Given the description of an element on the screen output the (x, y) to click on. 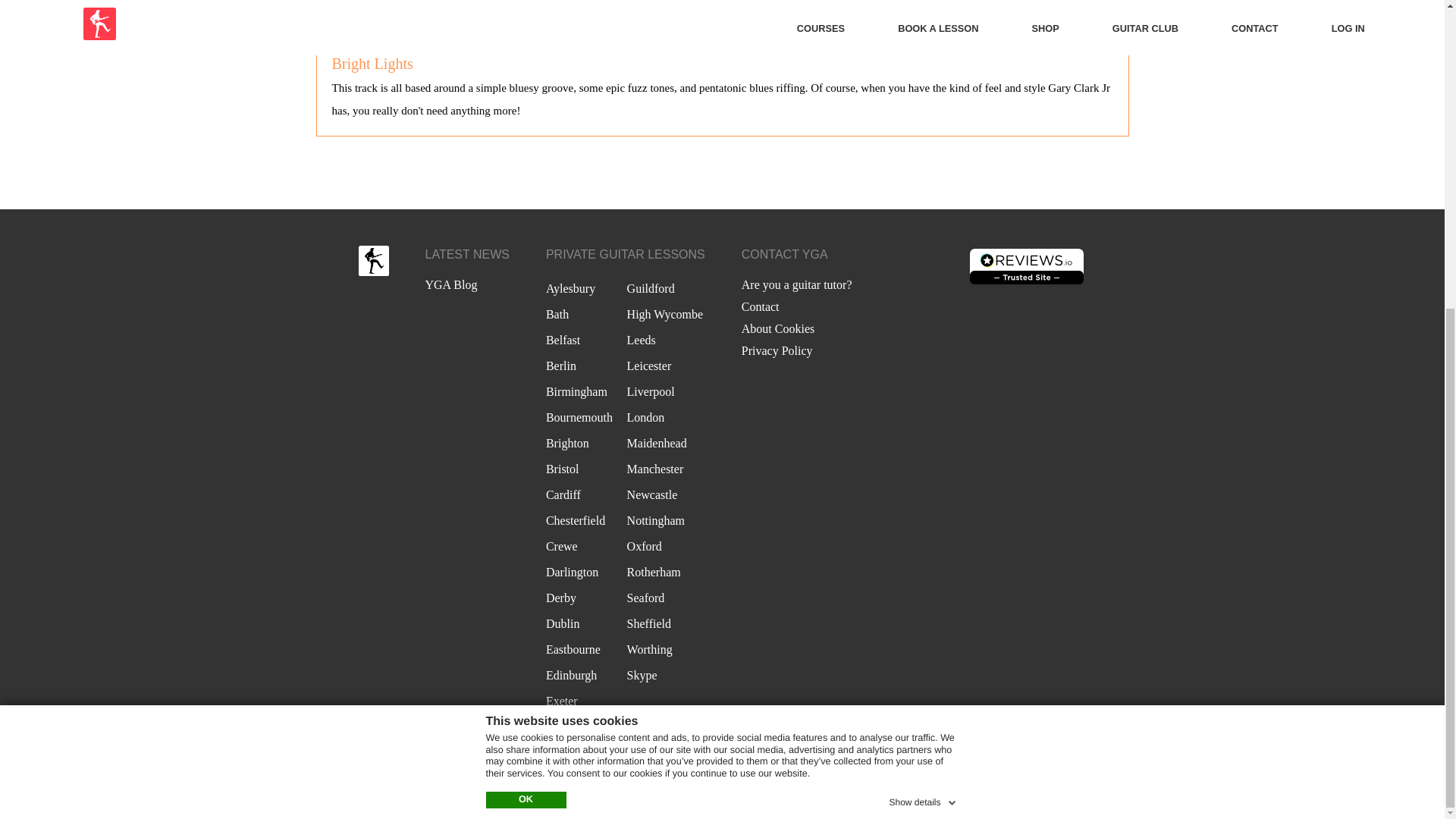
Show details (923, 312)
OK (525, 312)
